Given the description of an element on the screen output the (x, y) to click on. 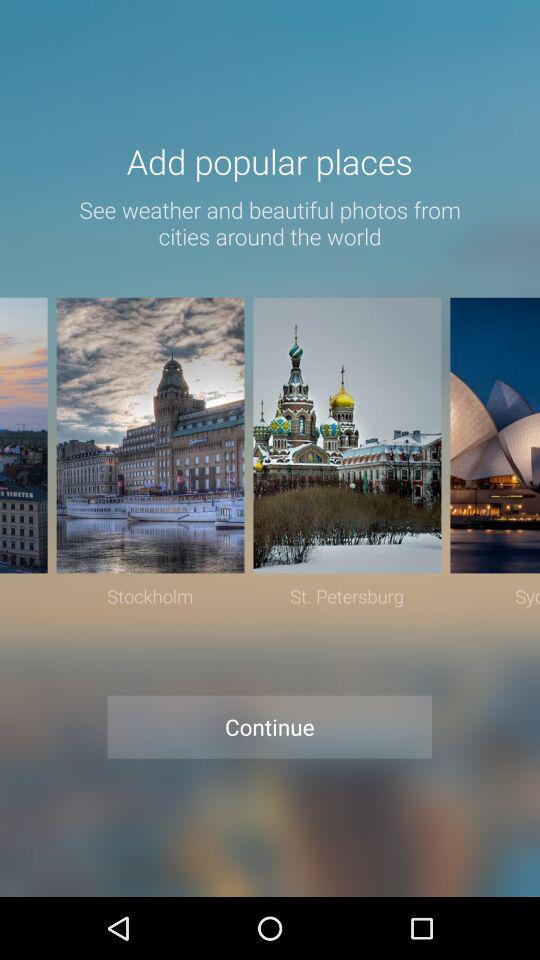
launch item below stockholm item (269, 726)
